Given the description of an element on the screen output the (x, y) to click on. 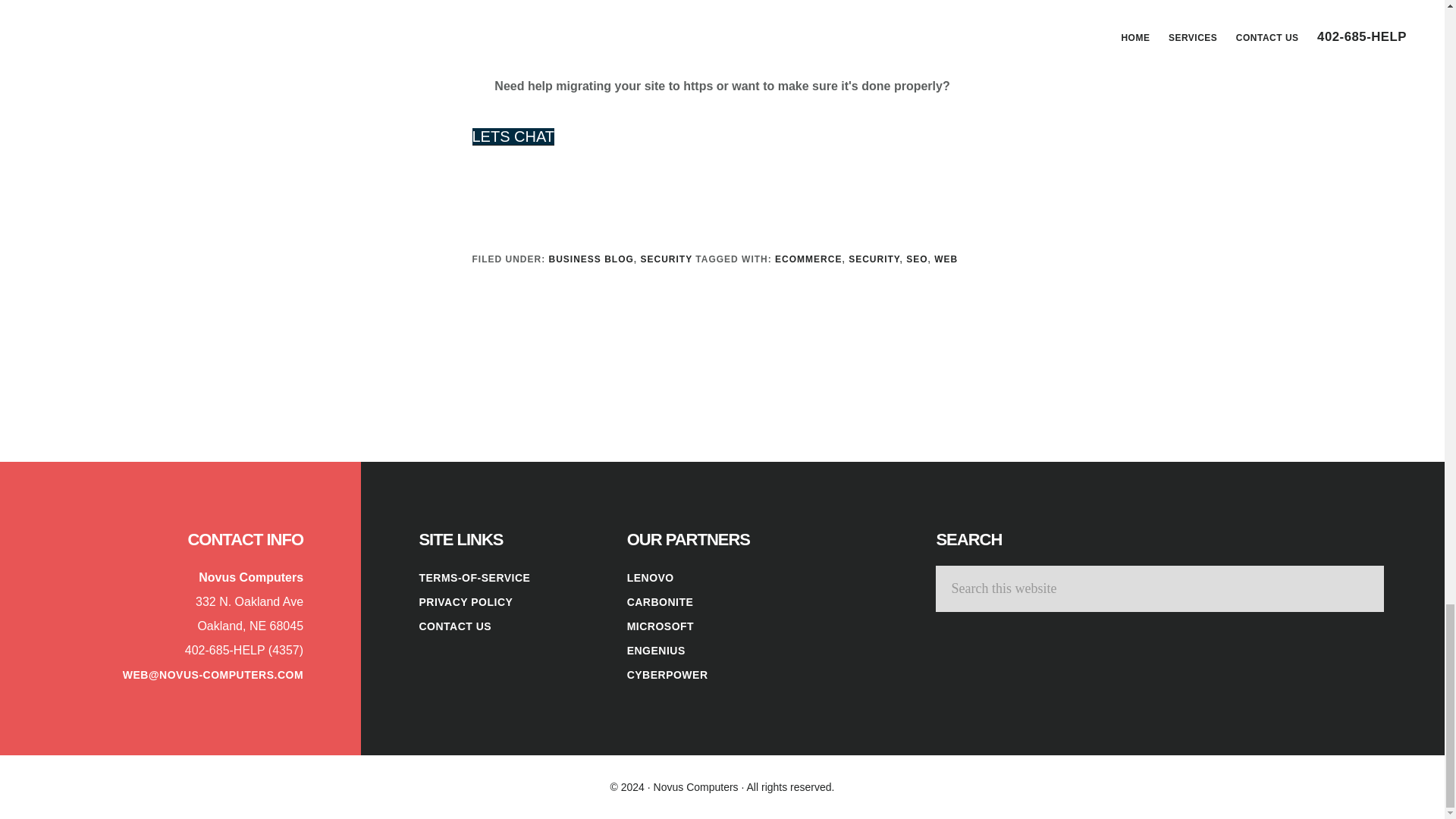
ECOMMERCE (807, 258)
WEB (946, 258)
MICROSOFT (660, 625)
CARBONITE (660, 602)
CONTACT US (455, 625)
Novus Computers (695, 787)
BUSINESS BLOG (590, 258)
PRIVACY POLICY (465, 602)
LENOVO (650, 577)
ENGENIUS (656, 650)
CYBERPOWER (667, 674)
SECURITY (873, 258)
